Given the description of an element on the screen output the (x, y) to click on. 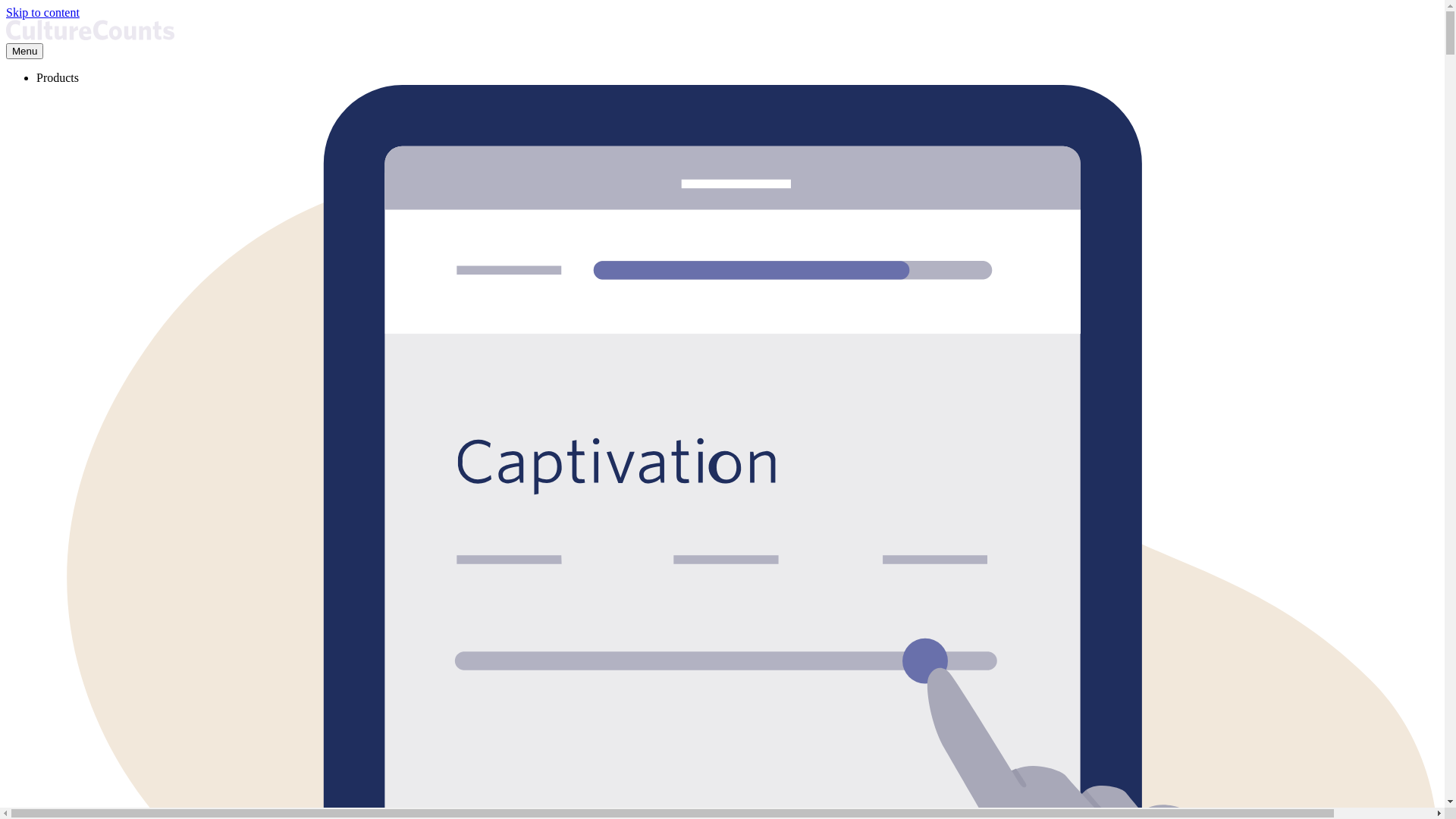
Menu Element type: text (24, 51)
Skip to content Element type: text (42, 12)
Products Element type: text (57, 77)
